Given the description of an element on the screen output the (x, y) to click on. 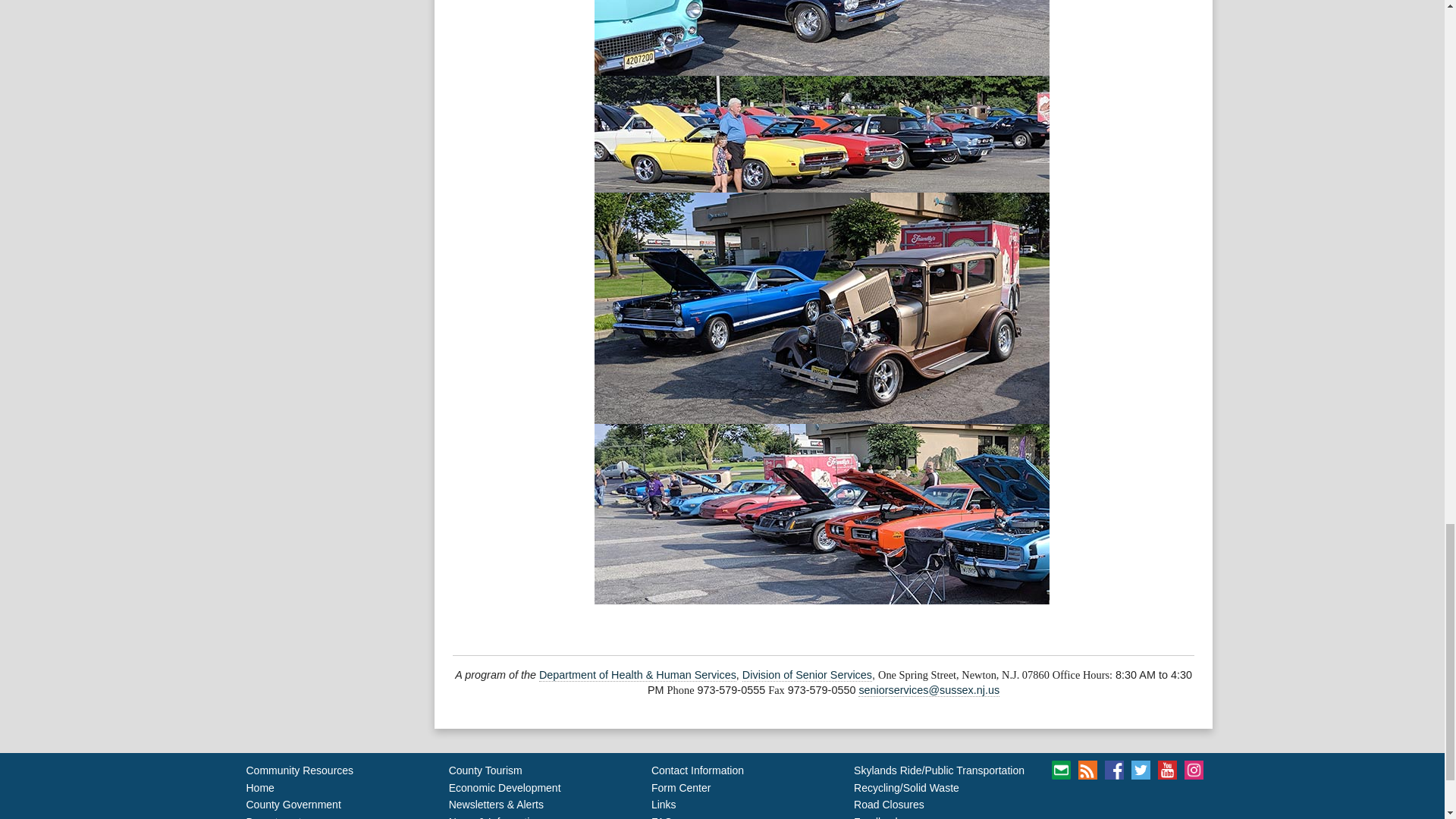
Email us... (928, 689)
Visit our Facebook page (1114, 769)
Visit our Instagram page (1194, 769)
Sign Up for emails from Sussex County (1060, 769)
Follow us on Twitter (1140, 769)
Visit our YouTube channel (1166, 769)
Visit our RSS feed (1087, 769)
